Given the description of an element on the screen output the (x, y) to click on. 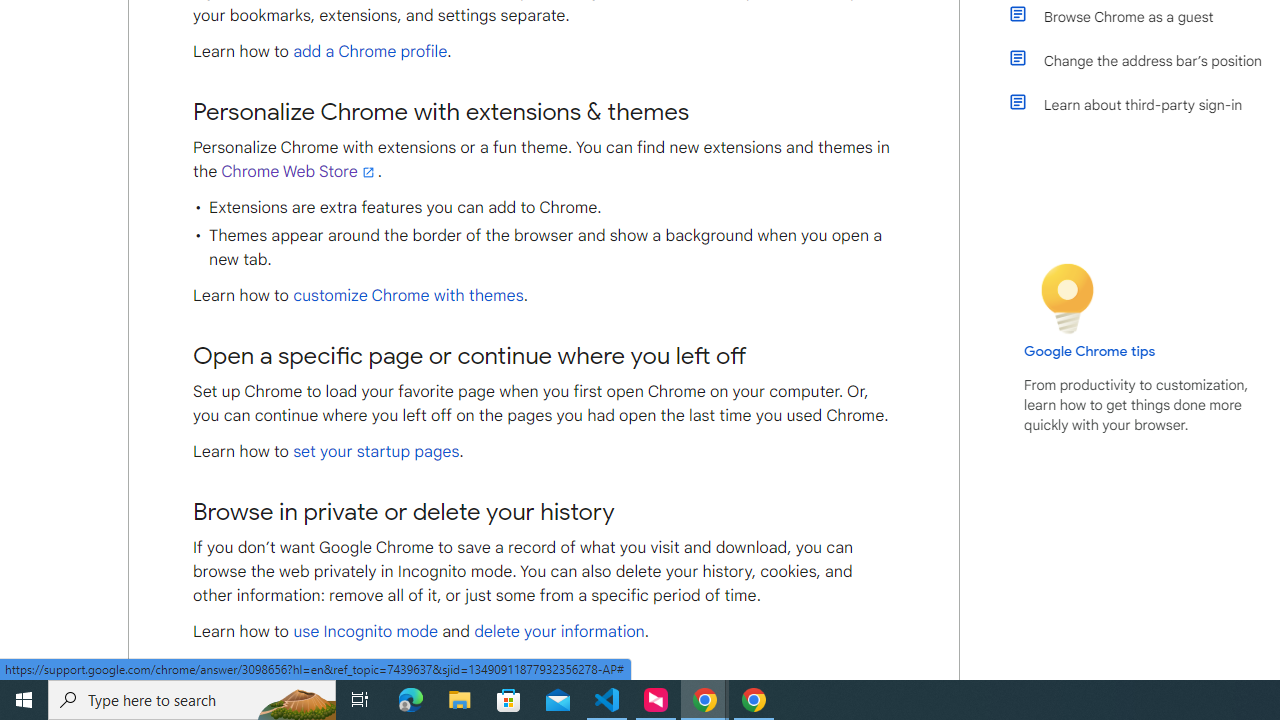
use Incognito mode (366, 632)
Chrome Web Store (299, 172)
Google Chrome tips (1089, 351)
customize Chrome with themes (408, 295)
